Given the description of an element on the screen output the (x, y) to click on. 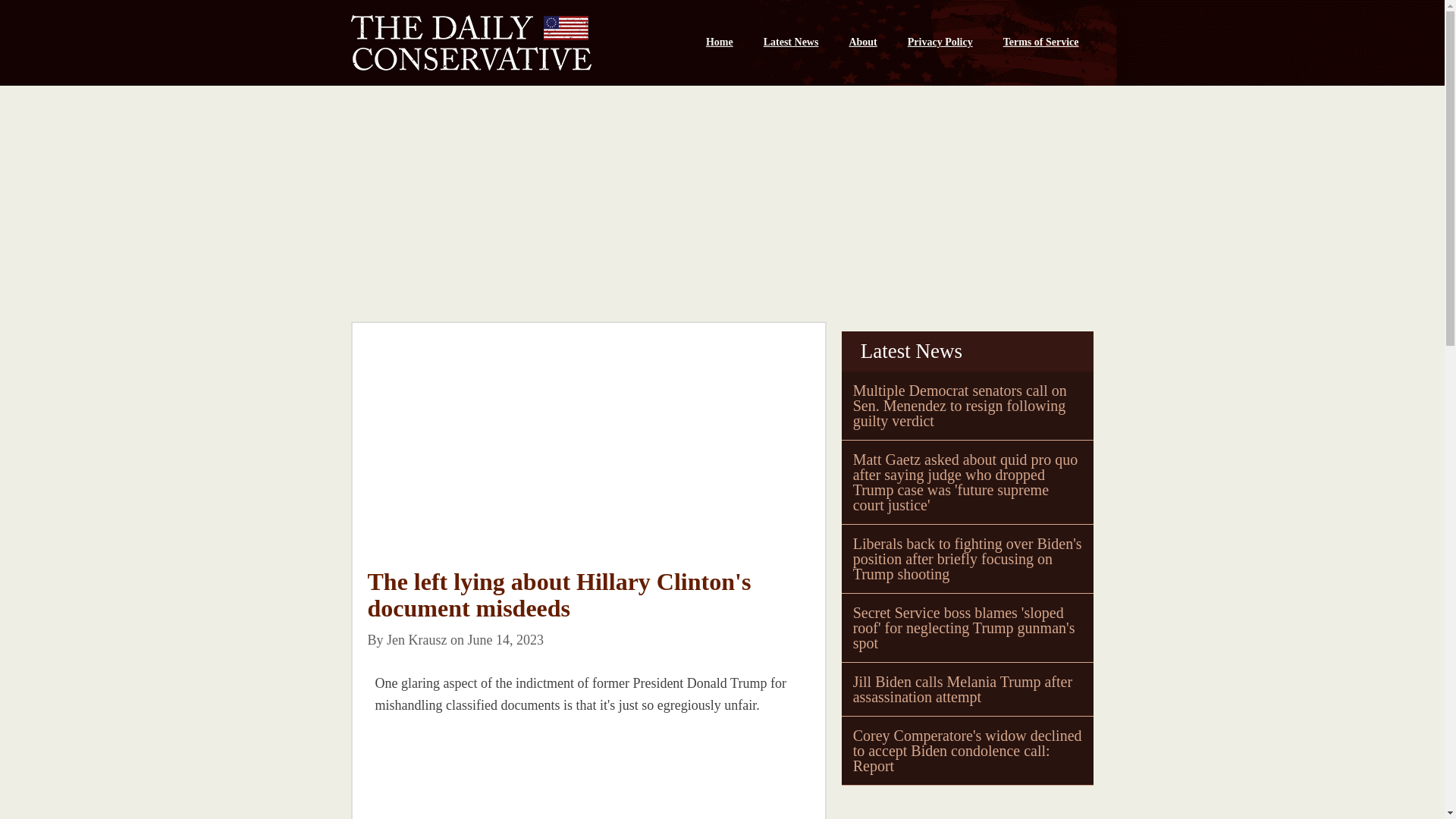
Jen Krausz (416, 639)
Advertisement (587, 456)
Latest News (791, 42)
Privacy Policy (940, 42)
About (861, 42)
Advertisement (480, 774)
Advertisement (954, 805)
Jill Biden calls Melania Trump after assassination attempt (962, 689)
Home (719, 42)
